Given the description of an element on the screen output the (x, y) to click on. 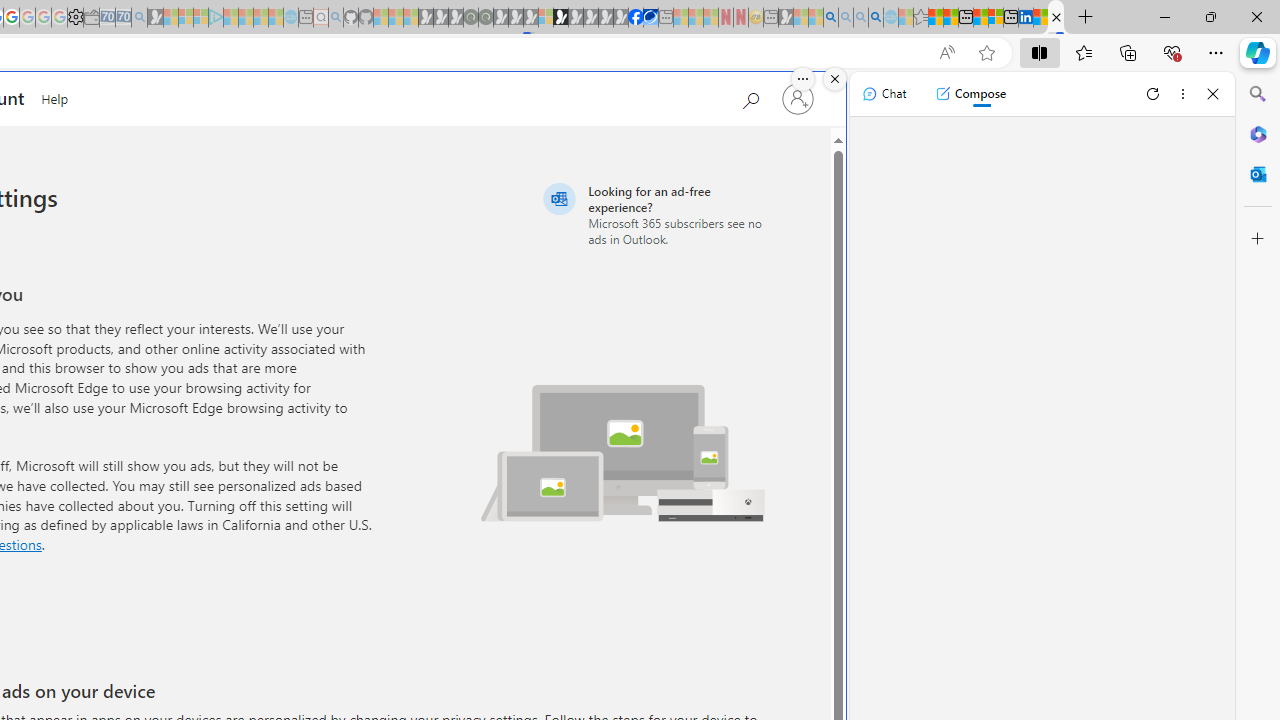
Close split screen. (835, 79)
Looking for an ad-free experience? (656, 214)
Sign in to your account (797, 98)
